Given the description of an element on the screen output the (x, y) to click on. 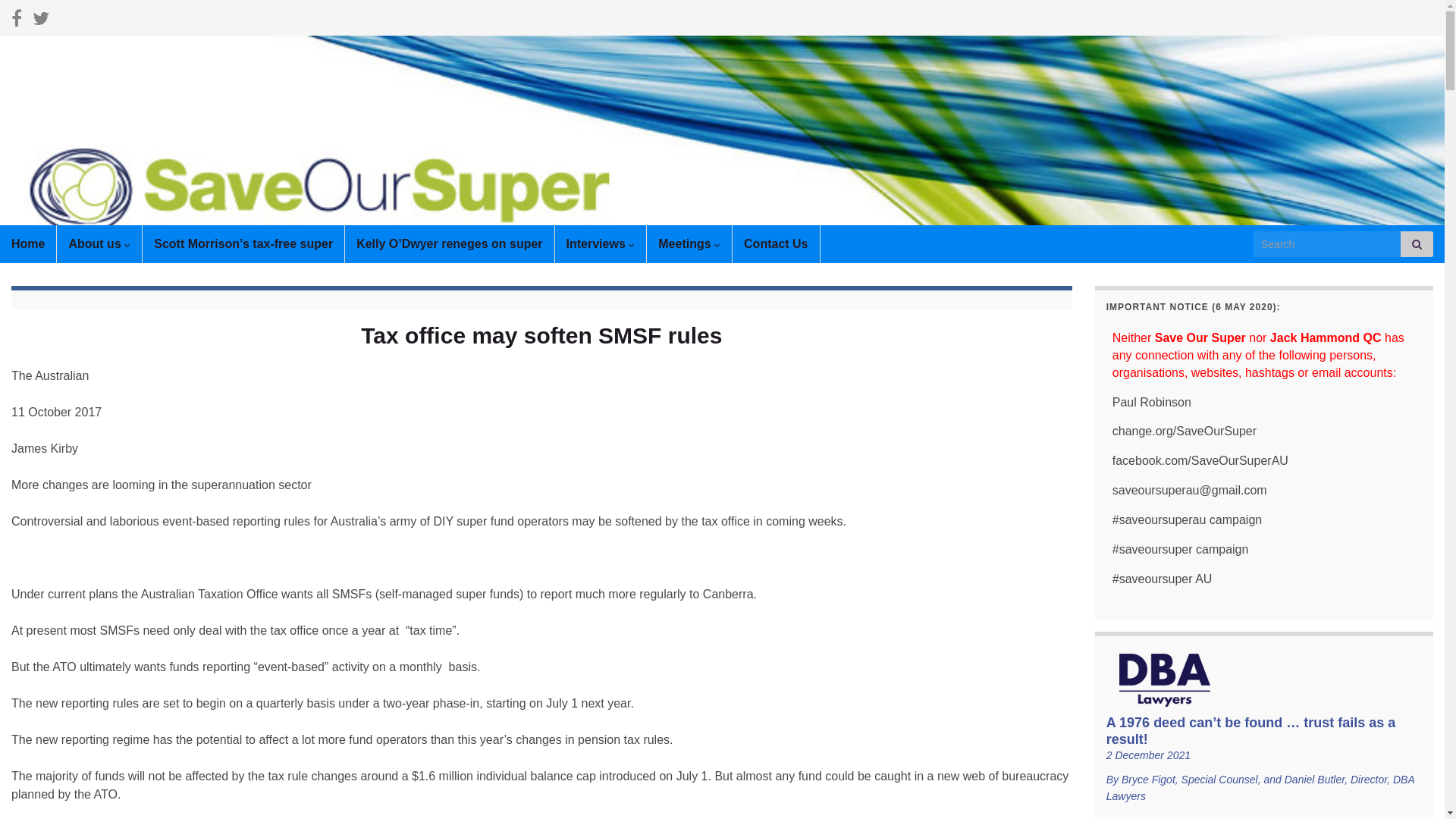
Contact Us Element type: text (775, 244)
Home Element type: text (28, 244)
Save Our Super Element type: hover (722, 149)
Meetings Element type: text (688, 244)
Twitter Element type: hover (40, 16)
Facebook Element type: hover (16, 16)
Interviews Element type: text (600, 244)
About us Element type: text (98, 244)
